Given the description of an element on the screen output the (x, y) to click on. 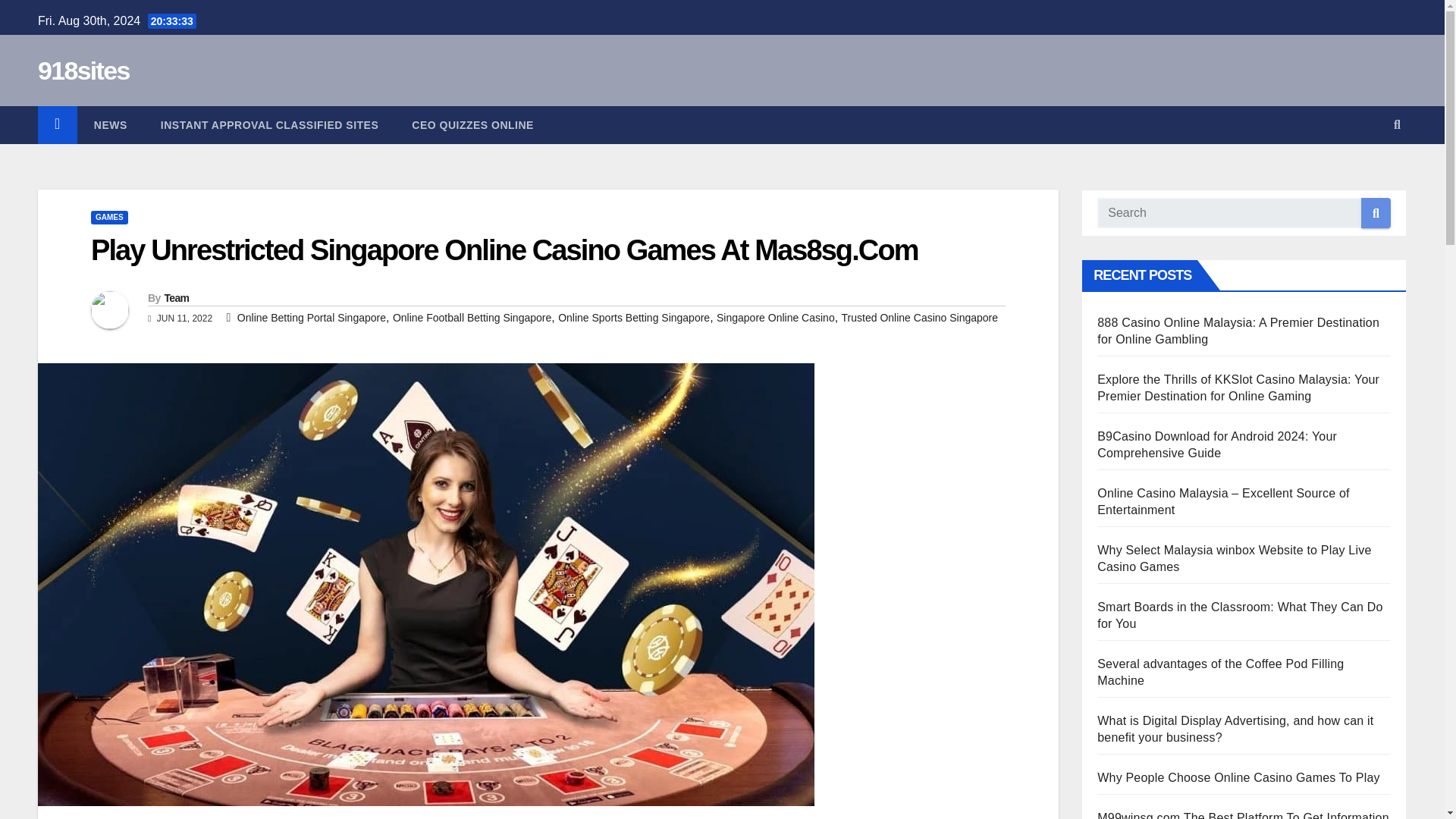
CEO Quizzes Online (472, 125)
News (110, 125)
Instant Approval Classified Sites (269, 125)
NEWS (110, 125)
Online Sports Betting Singapore (633, 317)
GAMES (109, 217)
918sites (83, 70)
Singapore Online Casino (775, 317)
